Given the description of an element on the screen output the (x, y) to click on. 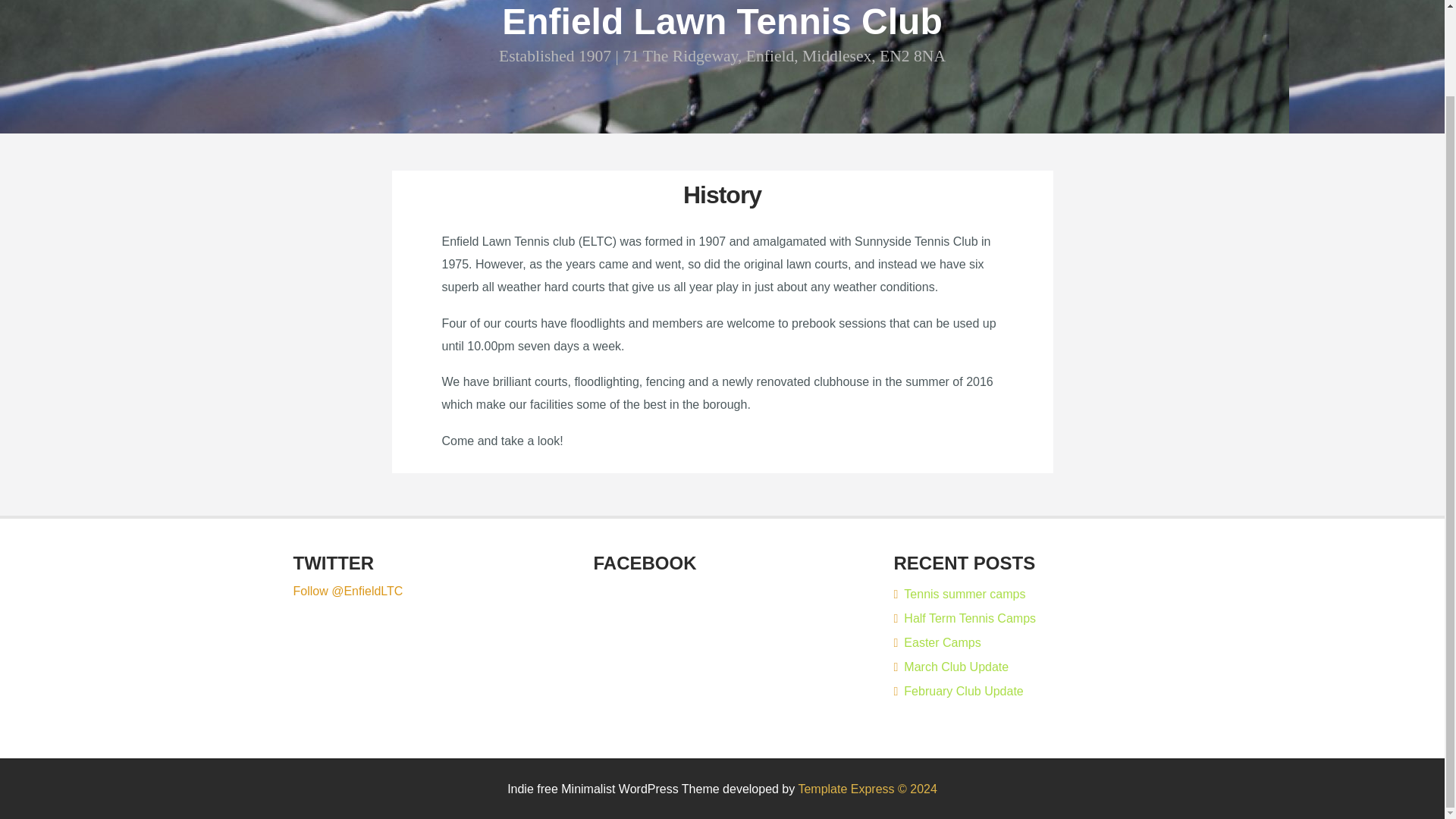
Easter Camps (936, 642)
February Club Update (958, 690)
March Club Update (951, 666)
Half Term Tennis Camps (964, 617)
Tennis summer camps (959, 594)
